Given the description of an element on the screen output the (x, y) to click on. 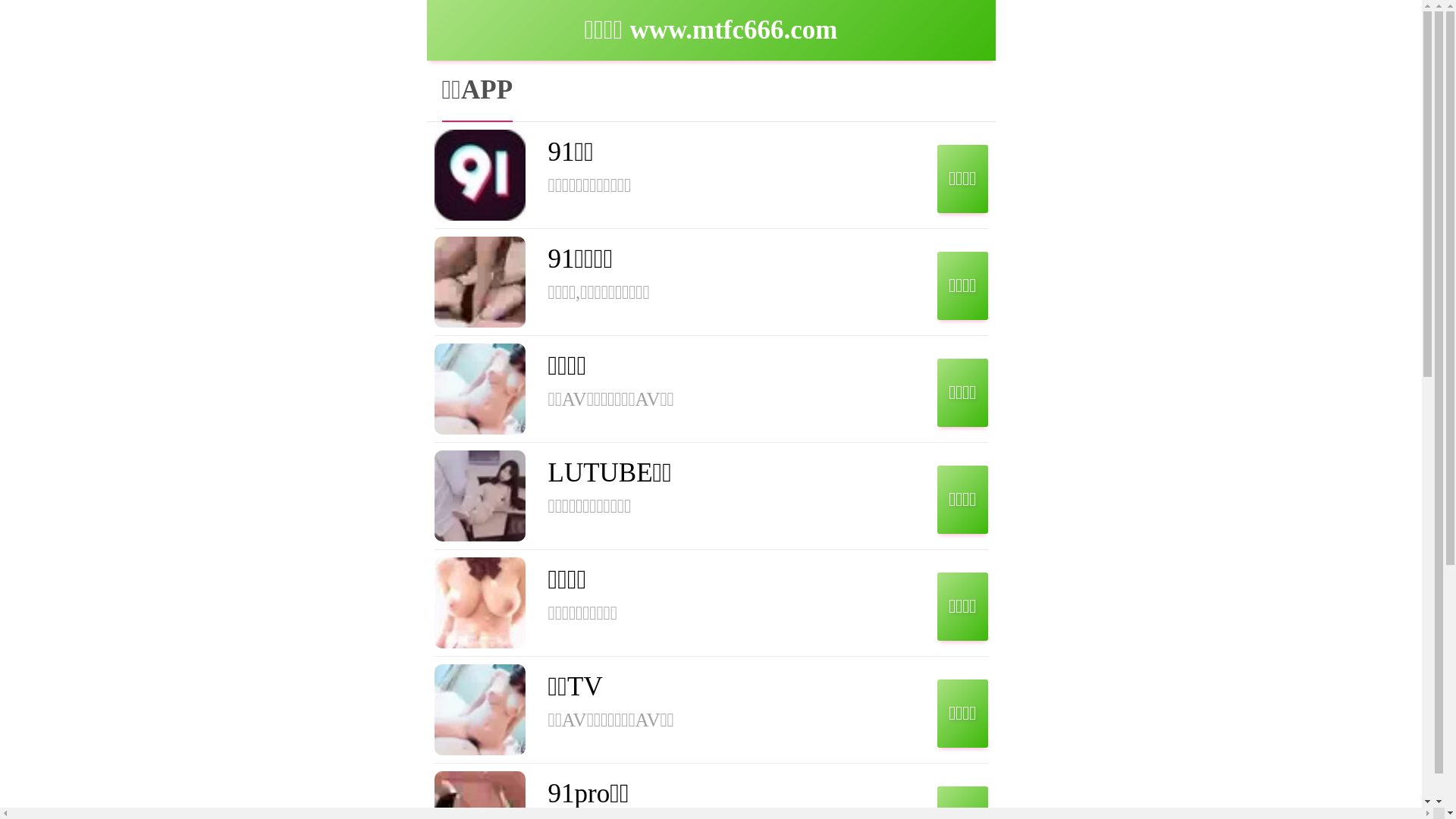
Hidetaka Okamoto Element type: text (769, 670)
